Given the description of an element on the screen output the (x, y) to click on. 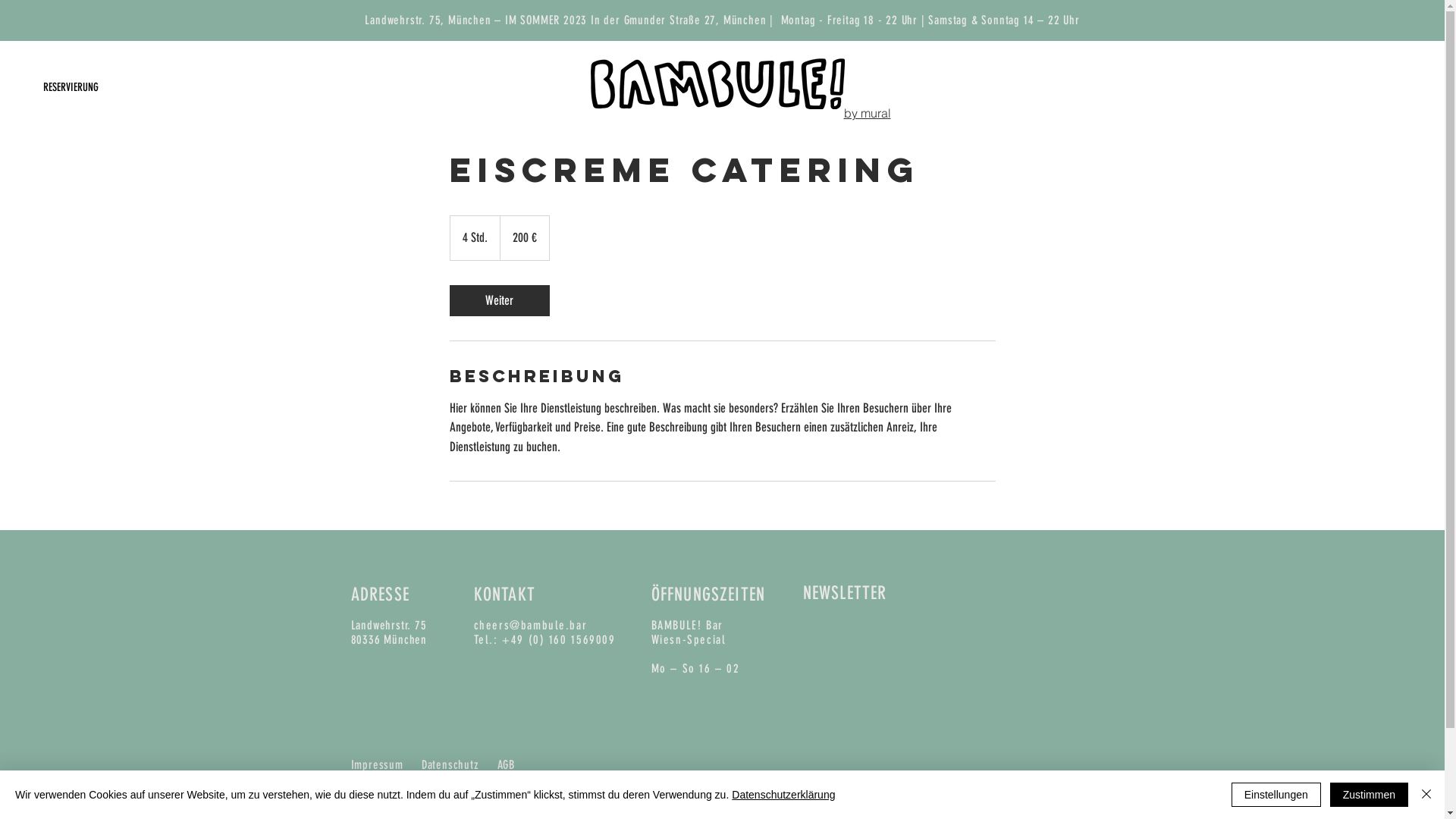
cheers@bambule.bar Element type: text (529, 625)
RESERVIERUNG Element type: text (70, 87)
AGB Element type: text (505, 764)
Restaurant Social Bar Element type: hover (1296, 99)
Zustimmen Element type: text (1369, 794)
Weiter Element type: text (498, 300)
by mural Element type: text (866, 112)
Einstellungen Element type: text (1276, 794)
Impressum Element type: text (376, 764)
Datenschutz Element type: text (450, 764)
